Given the description of an element on the screen output the (x, y) to click on. 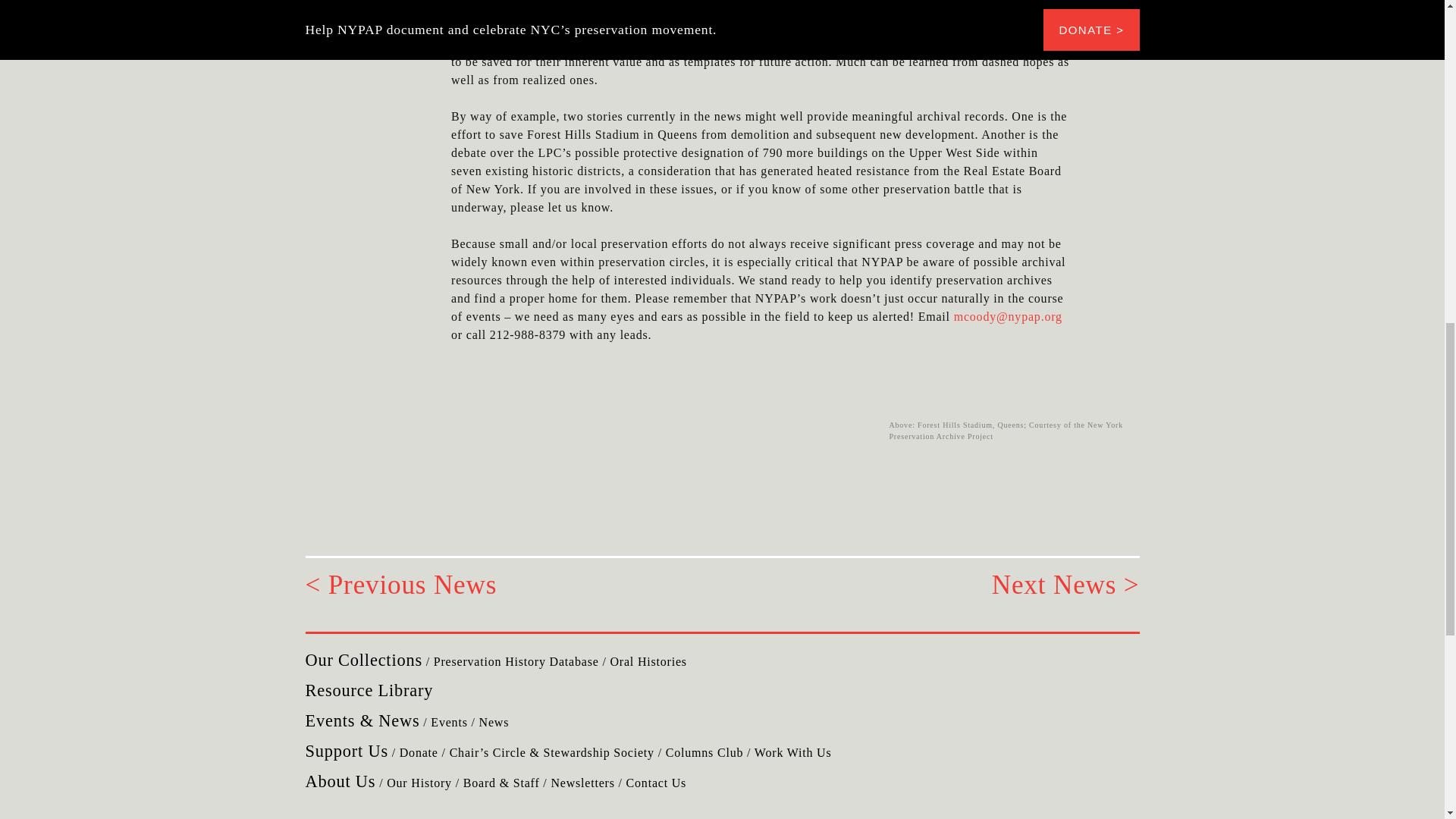
News (494, 721)
Preservation History Database (515, 661)
About Us (339, 781)
Oral Histories (647, 661)
Work With Us (792, 752)
Contact Us (656, 782)
Resource Library (368, 690)
Our History (419, 782)
Support Us (345, 751)
Columns Club (704, 752)
Donate (418, 752)
Our Collections (363, 659)
Newsletters (582, 782)
